Given the description of an element on the screen output the (x, y) to click on. 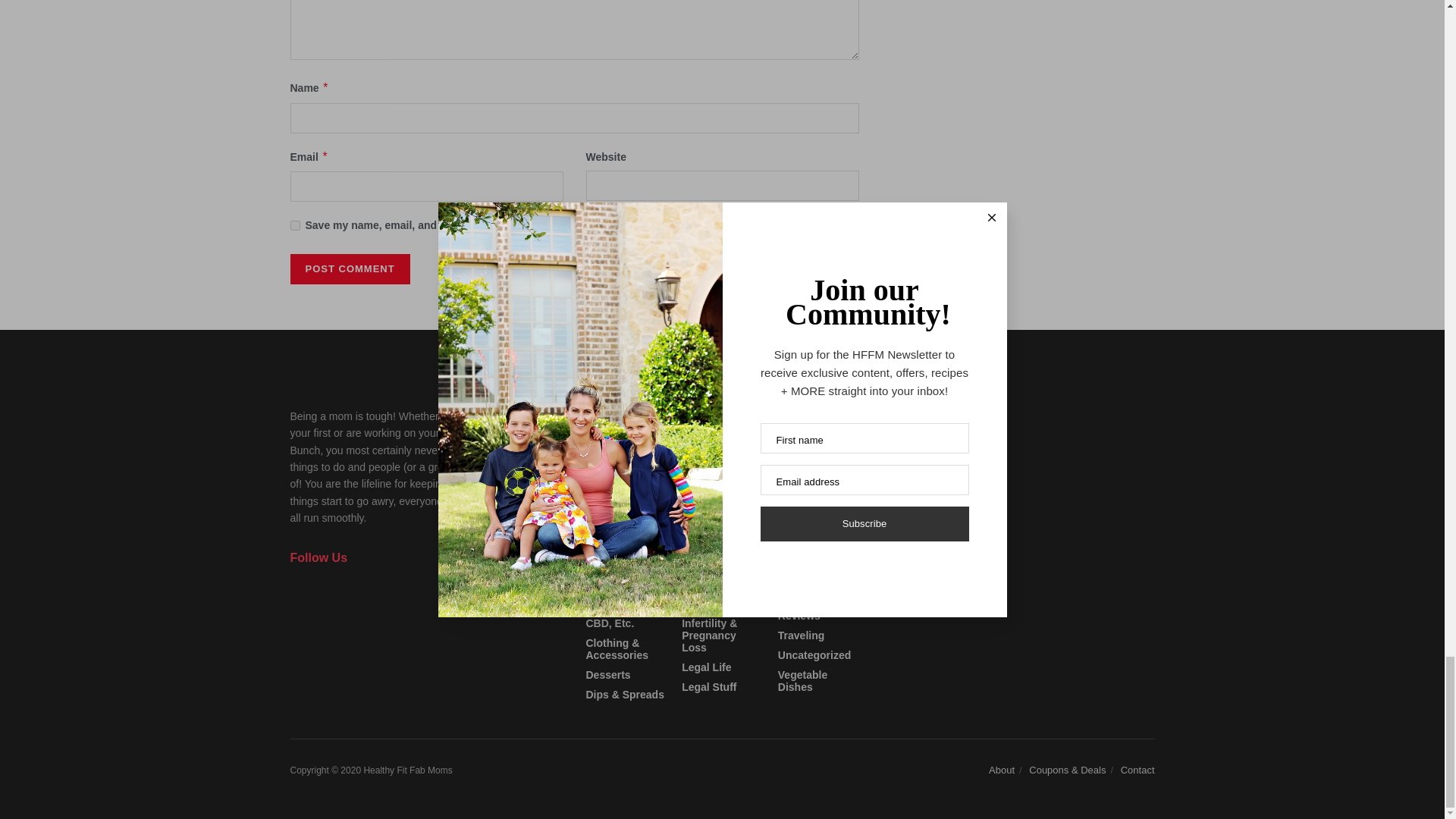
yes (294, 225)
Post Comment (349, 268)
